Given the description of an element on the screen output the (x, y) to click on. 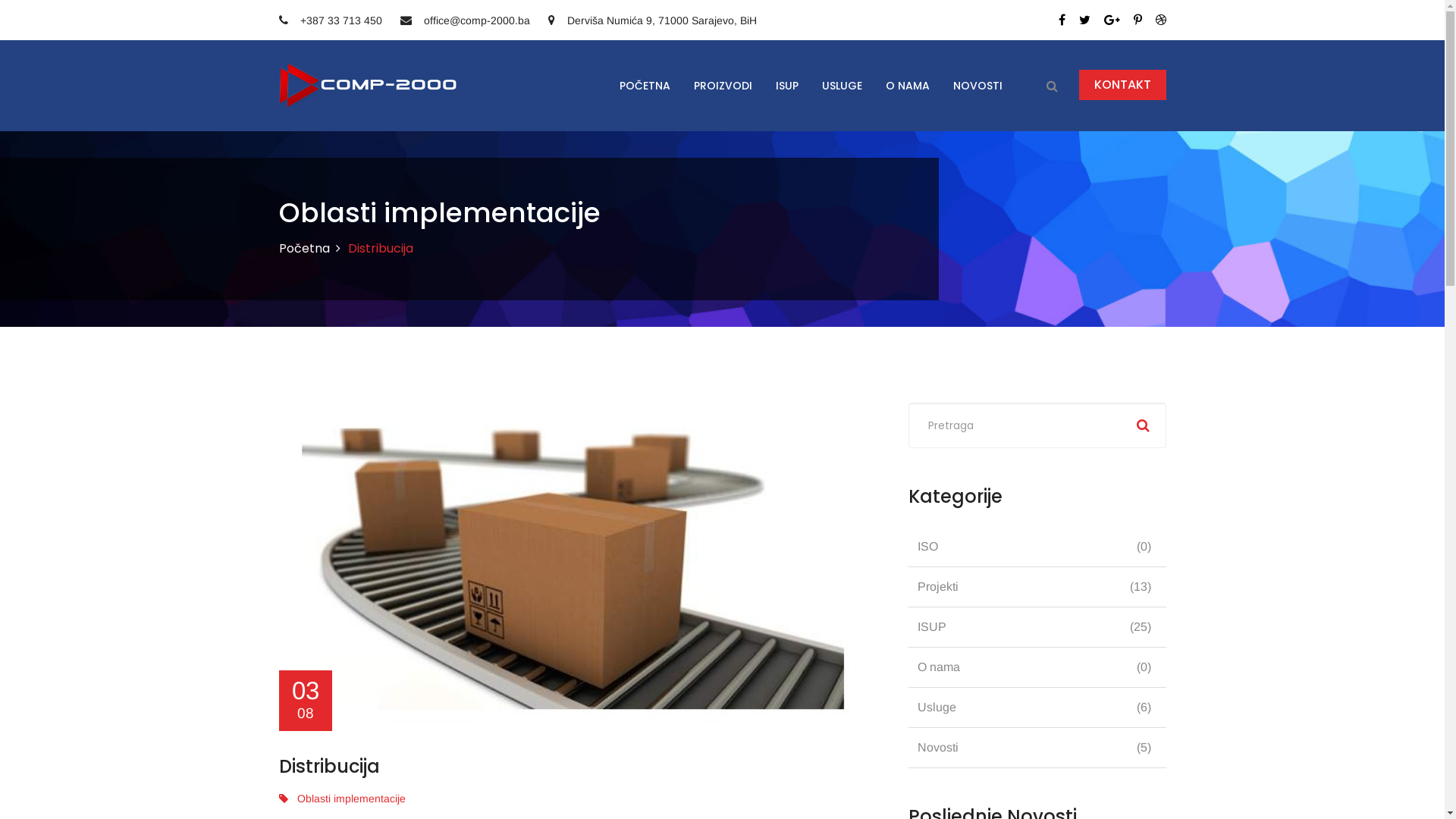
ISUP Element type: text (786, 85)
PROIZVODI Element type: text (722, 85)
ISO
(0) Element type: text (1037, 546)
NOVOSTI Element type: text (976, 85)
O nama
(0) Element type: text (1037, 667)
ISUP Element type: text (786, 85)
O NAMA Element type: text (906, 85)
NOVOSTI Element type: text (977, 85)
ISUP
(25) Element type: text (1037, 626)
KONTAKT Element type: text (1121, 84)
O NAMA Element type: text (907, 85)
USLUGE Element type: text (840, 85)
+387 33 713 450 Element type: text (330, 20)
USLUGE Element type: text (842, 85)
Oblasti implementacije Element type: text (342, 798)
Novosti
(5) Element type: text (1037, 747)
office@comp-2000.ba Element type: text (465, 20)
PROIZVODI Element type: text (722, 85)
Usluge
(6) Element type: text (1037, 707)
Projekti
(13) Element type: text (1037, 586)
